Given the description of an element on the screen output the (x, y) to click on. 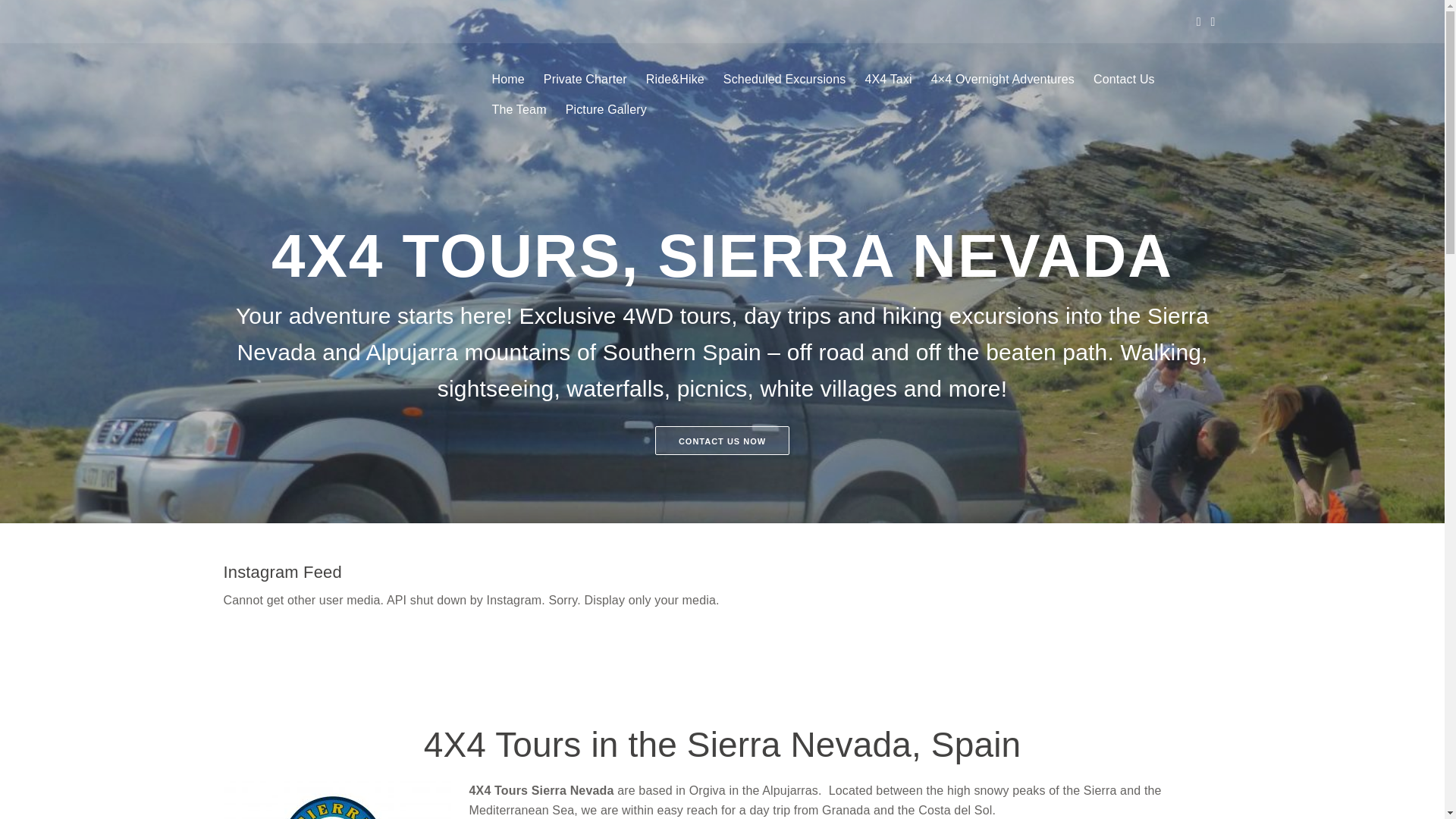
Picture Gallery (596, 115)
Scheduled Excursions (774, 84)
Contact Us (1114, 84)
4X4 Tours, Sierra Nevada (405, 80)
CONTACT US NOW (722, 440)
Home (498, 84)
The Team (510, 115)
Private Charter (575, 84)
4X4 Taxi (878, 84)
